Given the description of an element on the screen output the (x, y) to click on. 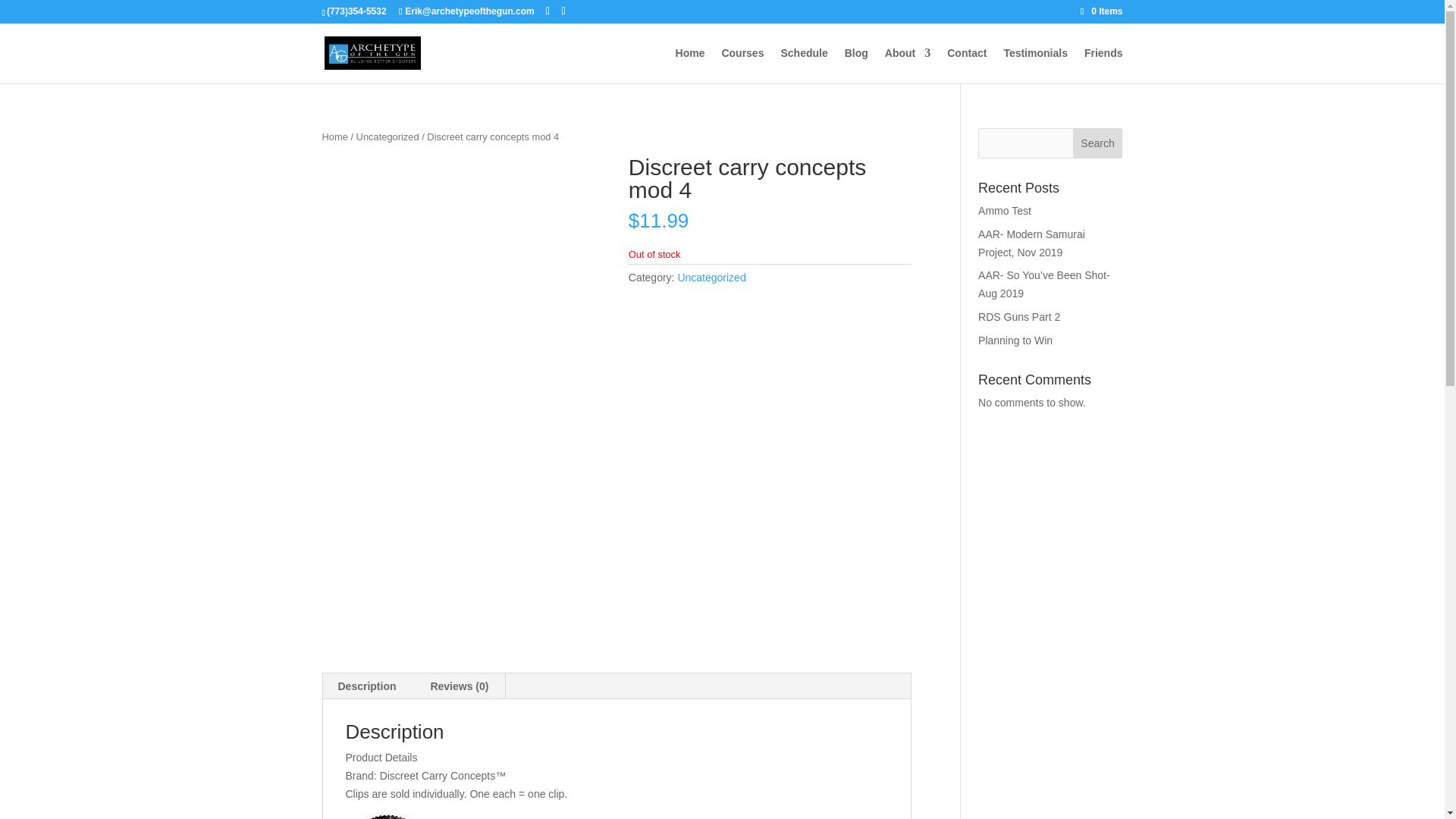
Schedule (803, 65)
Uncategorized (387, 136)
Courses (741, 65)
Friends (1103, 65)
Description (367, 686)
AAR- Modern Samurai Project, Nov 2019 (1031, 243)
0 Items (1101, 10)
Ammo Test (1004, 210)
Testimonials (1035, 65)
Search (1097, 142)
